Given the description of an element on the screen output the (x, y) to click on. 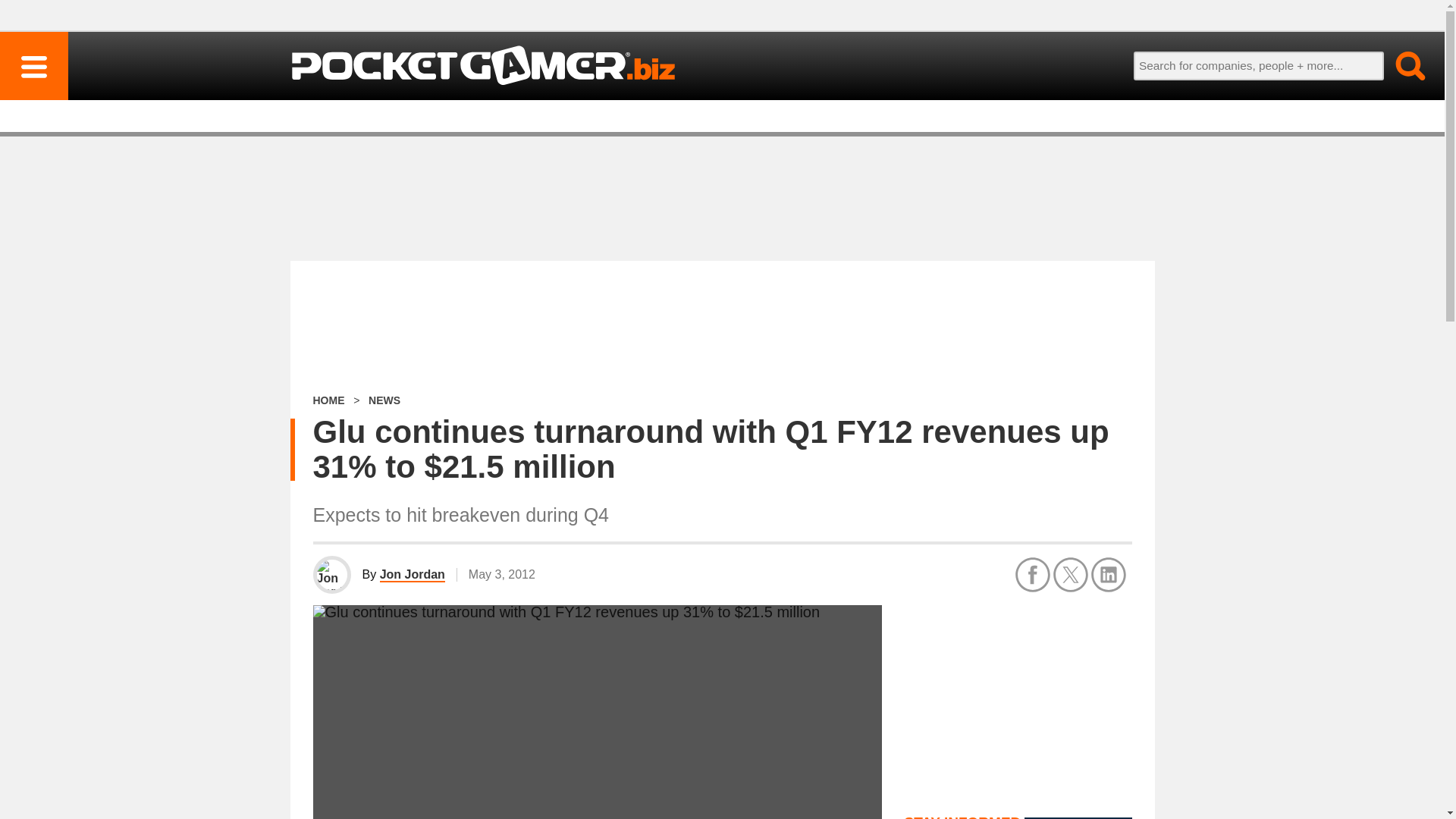
Go (1402, 65)
NEWS (384, 400)
Go (1402, 65)
Jon Jordan (412, 575)
HOME (328, 400)
